Given the description of an element on the screen output the (x, y) to click on. 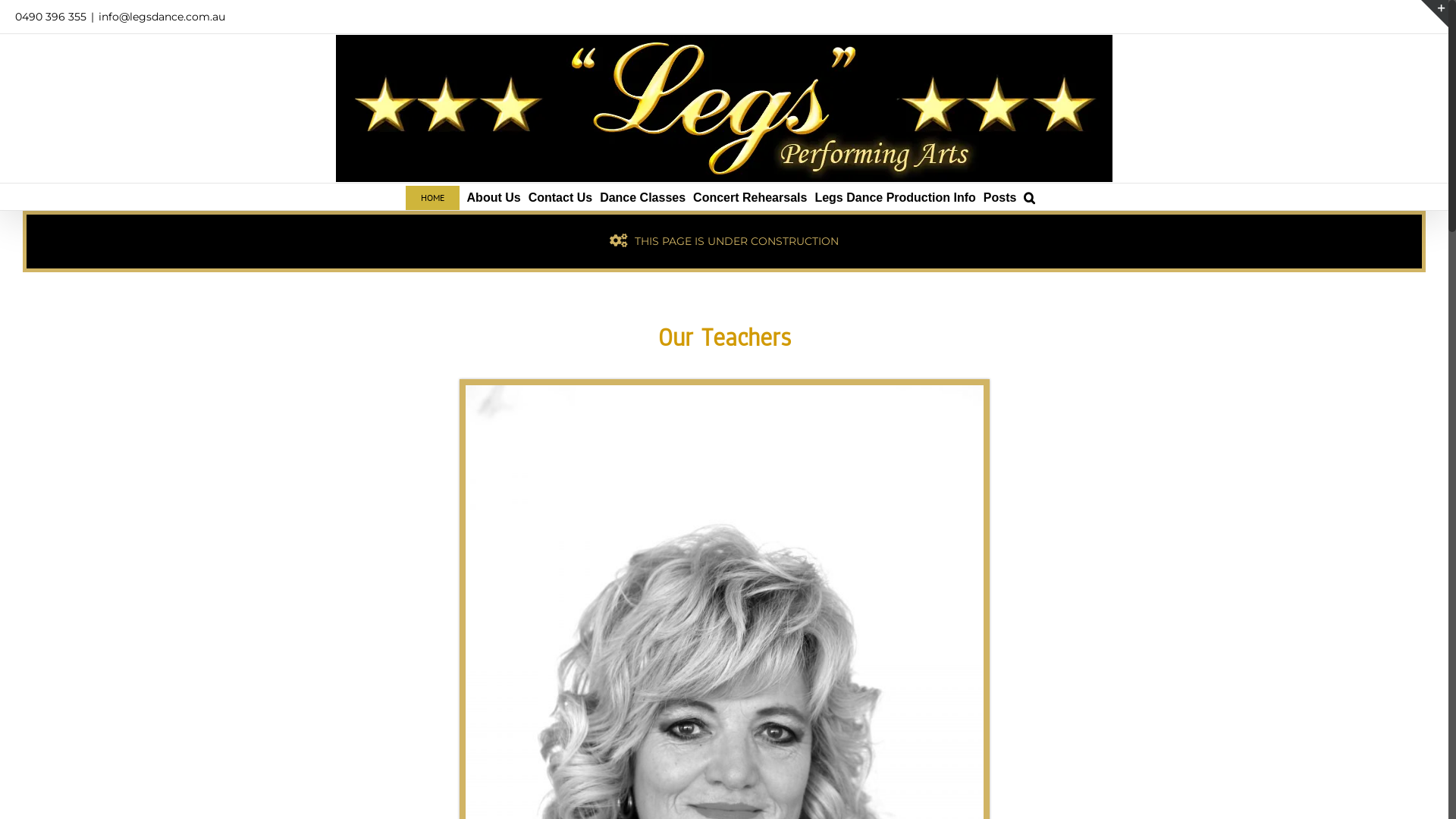
Toggle Sliding Bar Area Element type: text (1434, 13)
Posts Element type: text (999, 196)
Concert Rehearsals Element type: text (749, 196)
Legs Dance Production Info Element type: text (894, 196)
Contact Us Element type: text (560, 196)
HOME Element type: text (432, 196)
info@legsdance.com.au Element type: text (161, 16)
Search Element type: hover (1029, 196)
Dance Classes Element type: text (642, 196)
About Us Element type: text (493, 196)
